Given the description of an element on the screen output the (x, y) to click on. 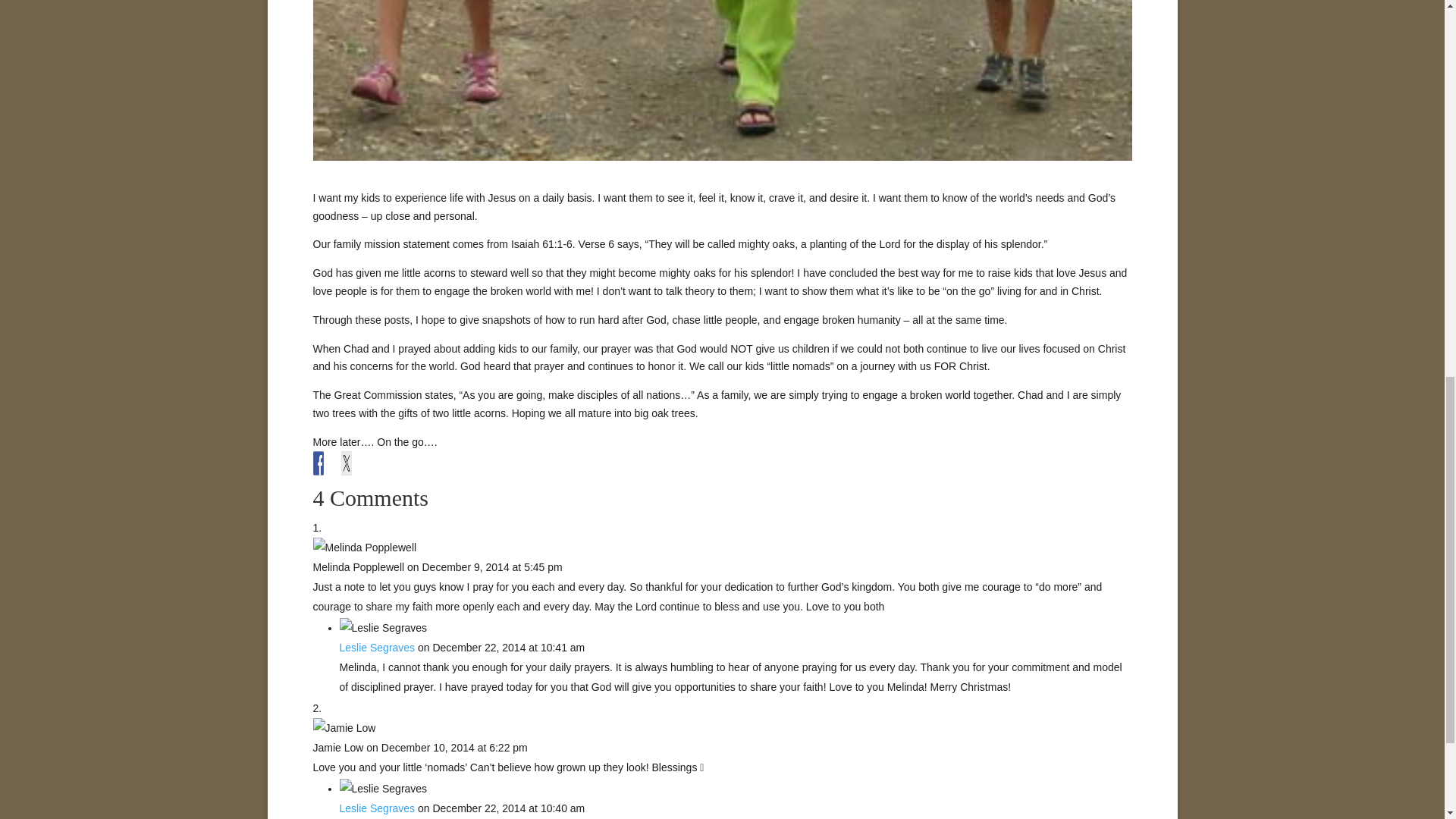
Share on Twitter (352, 463)
Share on Facebook (324, 463)
Leslie Segraves (376, 647)
Leslie Segraves (376, 808)
